Given the description of an element on the screen output the (x, y) to click on. 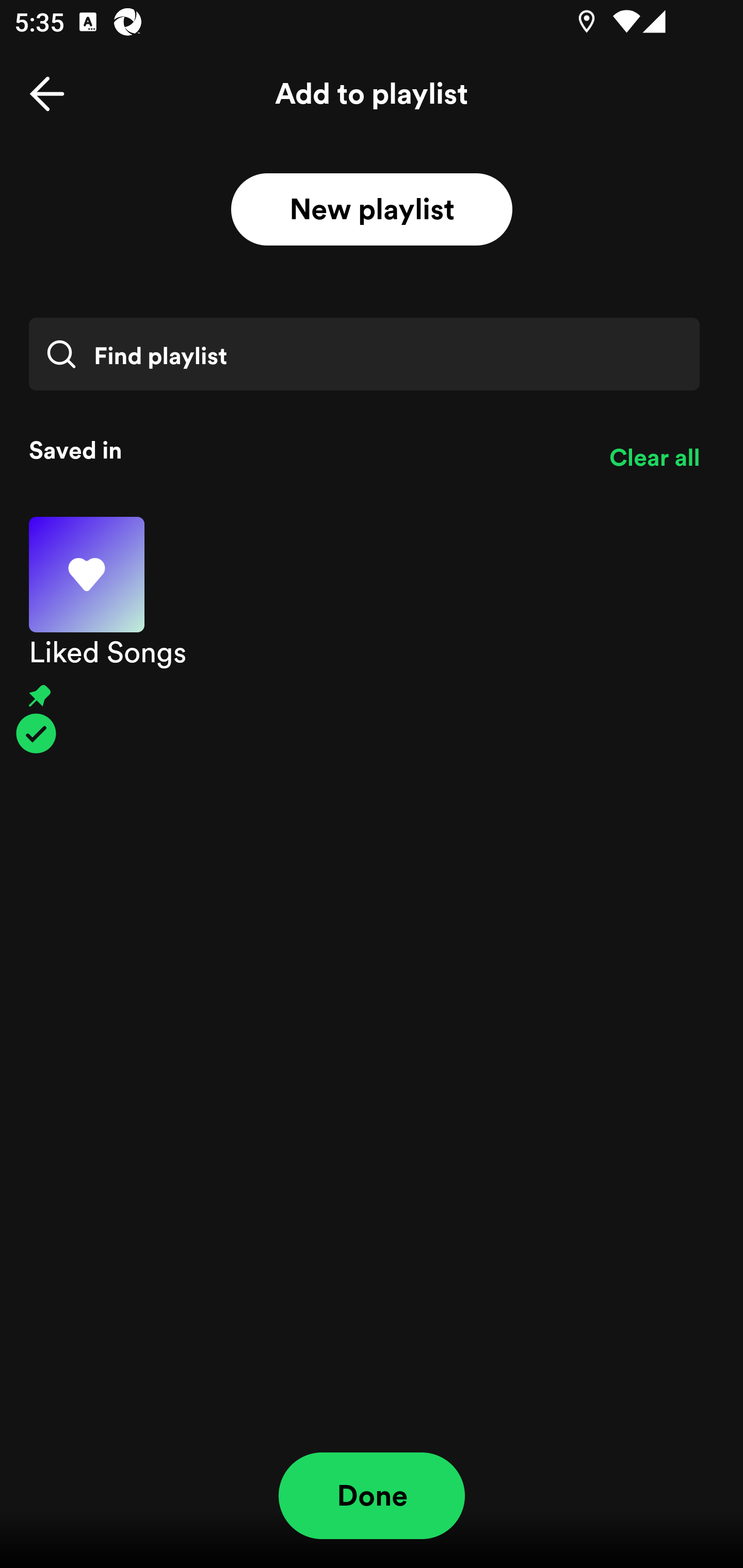
Back (46, 93)
New playlist (371, 210)
Find playlist (363, 354)
Saved in (304, 449)
Clear all (654, 457)
Liked Songs Pinned (371, 635)
Done (371, 1495)
